Given the description of an element on the screen output the (x, y) to click on. 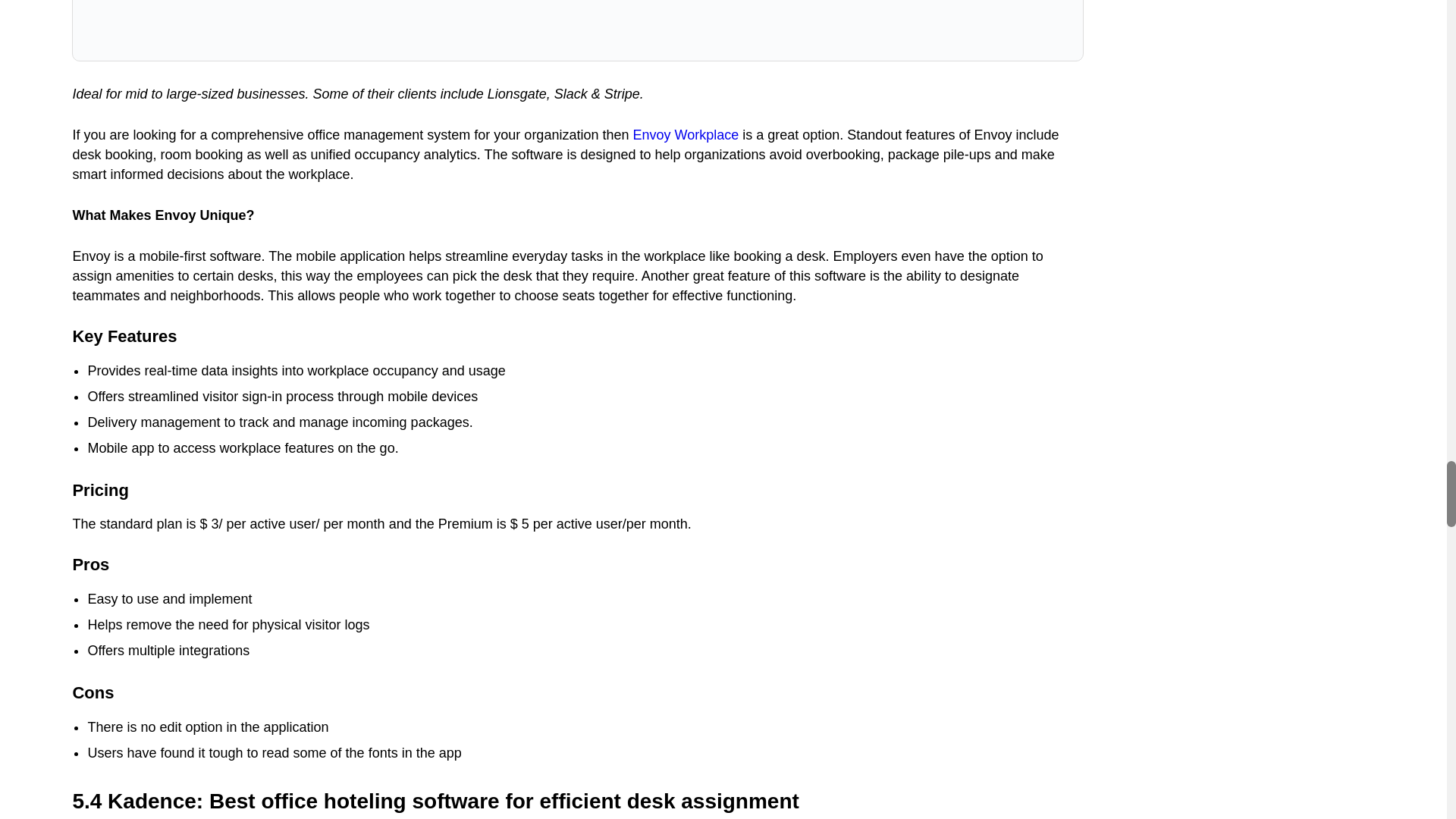
Envoy Workplace (684, 134)
